Given the description of an element on the screen output the (x, y) to click on. 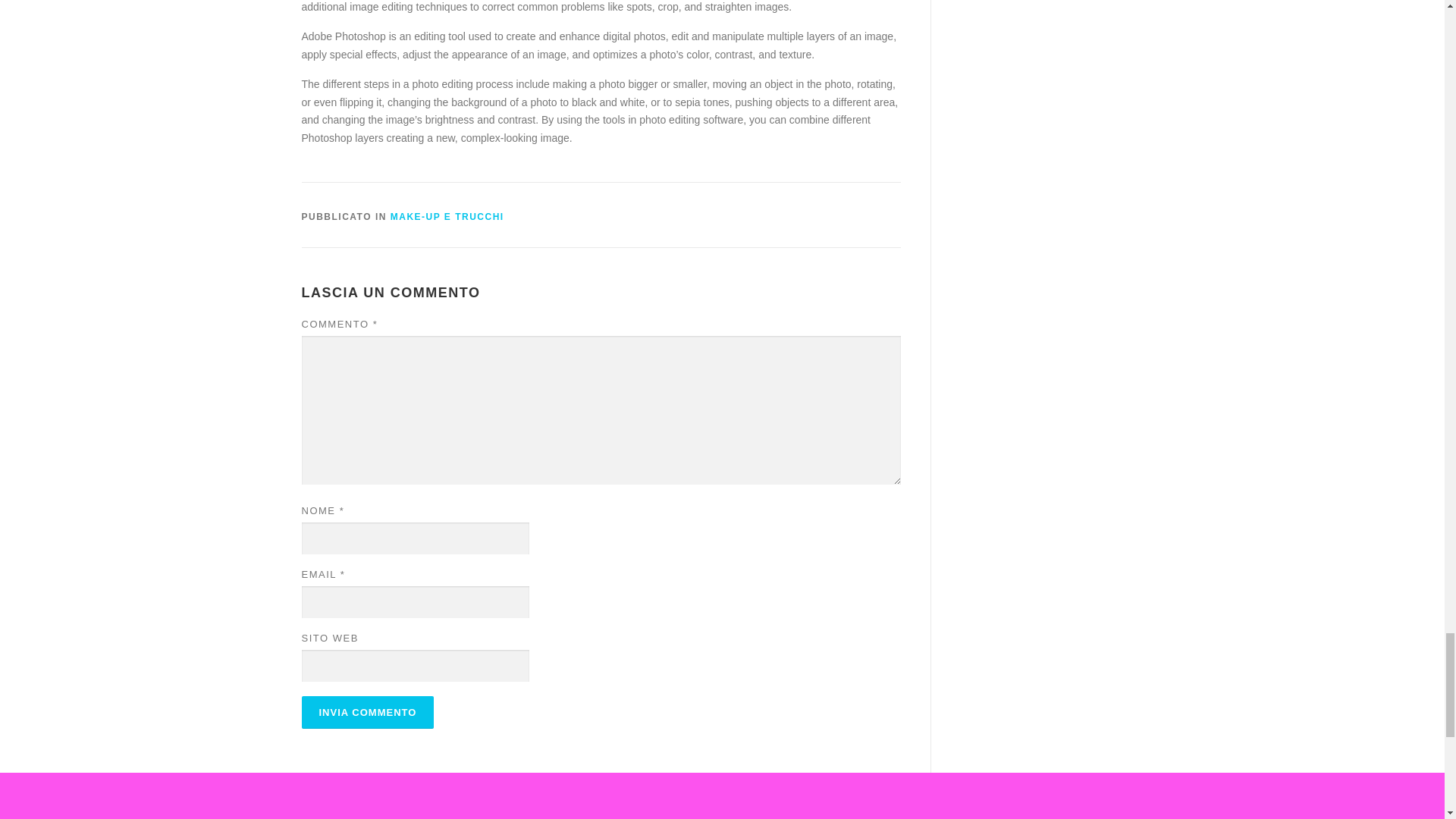
Invia commento (367, 712)
